Given the description of an element on the screen output the (x, y) to click on. 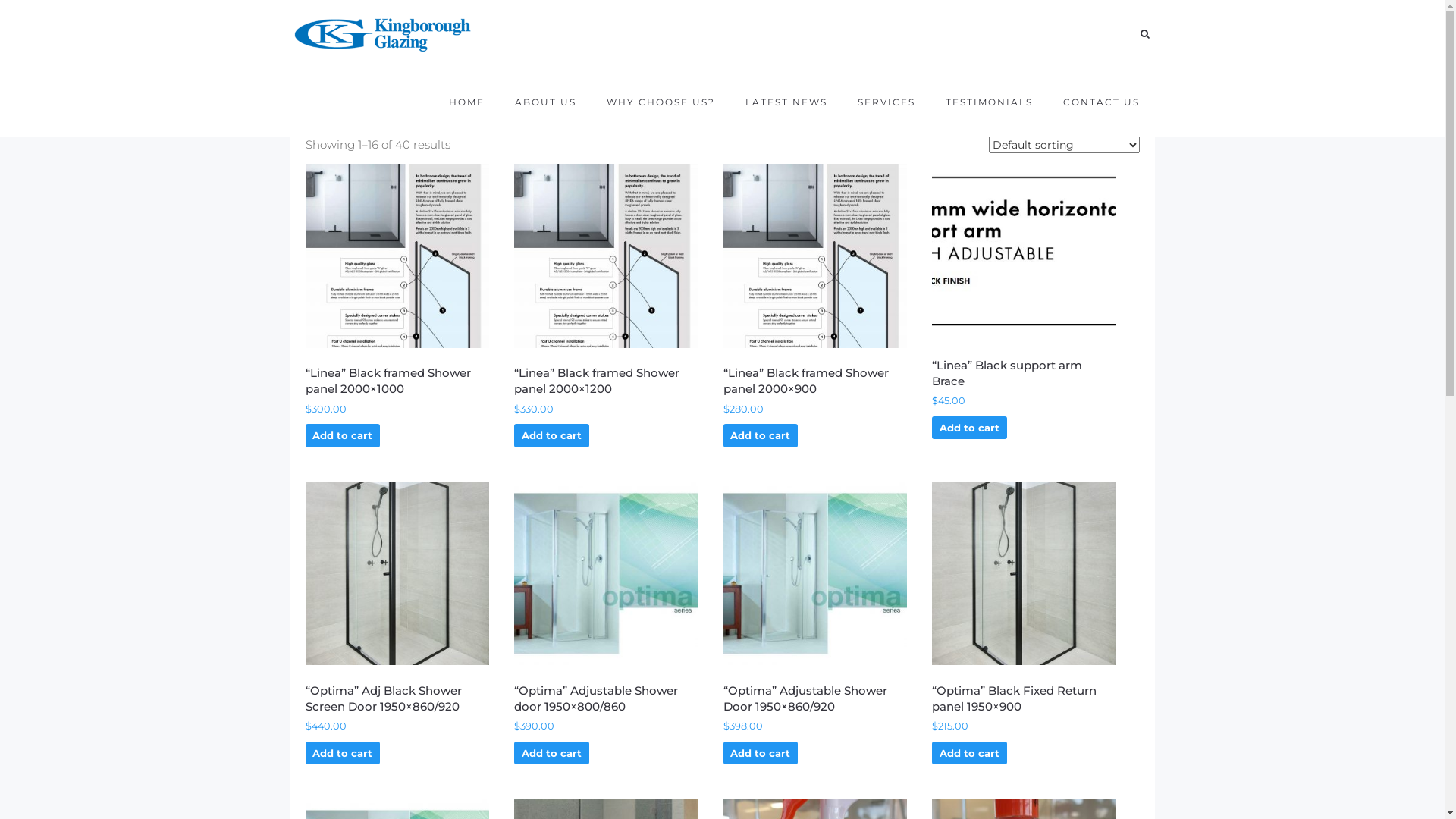
SERVICES Element type: text (886, 102)
Add to cart Element type: text (969, 753)
Add to cart Element type: text (551, 435)
CONTACT US Element type: text (1100, 102)
Add to cart Element type: text (341, 753)
Add to cart Element type: text (551, 753)
LATEST NEWS Element type: text (786, 102)
Add to cart Element type: text (760, 435)
HOME Element type: text (465, 102)
TESTIMONIALS Element type: text (989, 102)
Add to cart Element type: text (969, 427)
Add to cart Element type: text (760, 753)
WHY CHOOSE US? Element type: text (659, 102)
Add to cart Element type: text (341, 435)
ABOUT US Element type: text (545, 102)
